Given the description of an element on the screen output the (x, y) to click on. 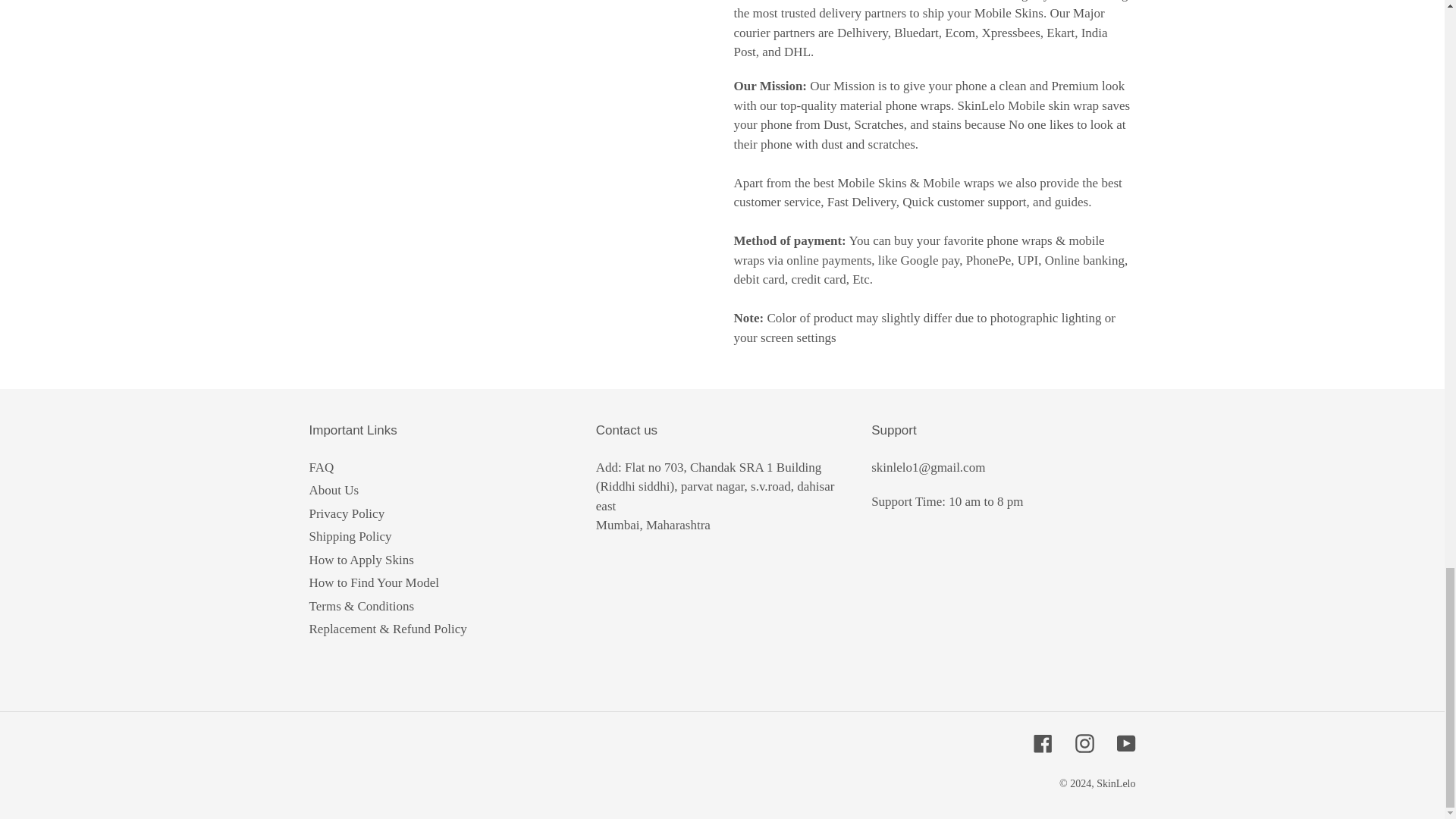
SkinLelo (1115, 783)
FAQ (321, 467)
How to Apply Skins (360, 559)
How to Find Your Model (373, 582)
About Us (333, 490)
Shipping Policy (349, 536)
YouTube (1125, 743)
Instagram (1084, 743)
Privacy Policy (346, 513)
Facebook (1041, 743)
